Given the description of an element on the screen output the (x, y) to click on. 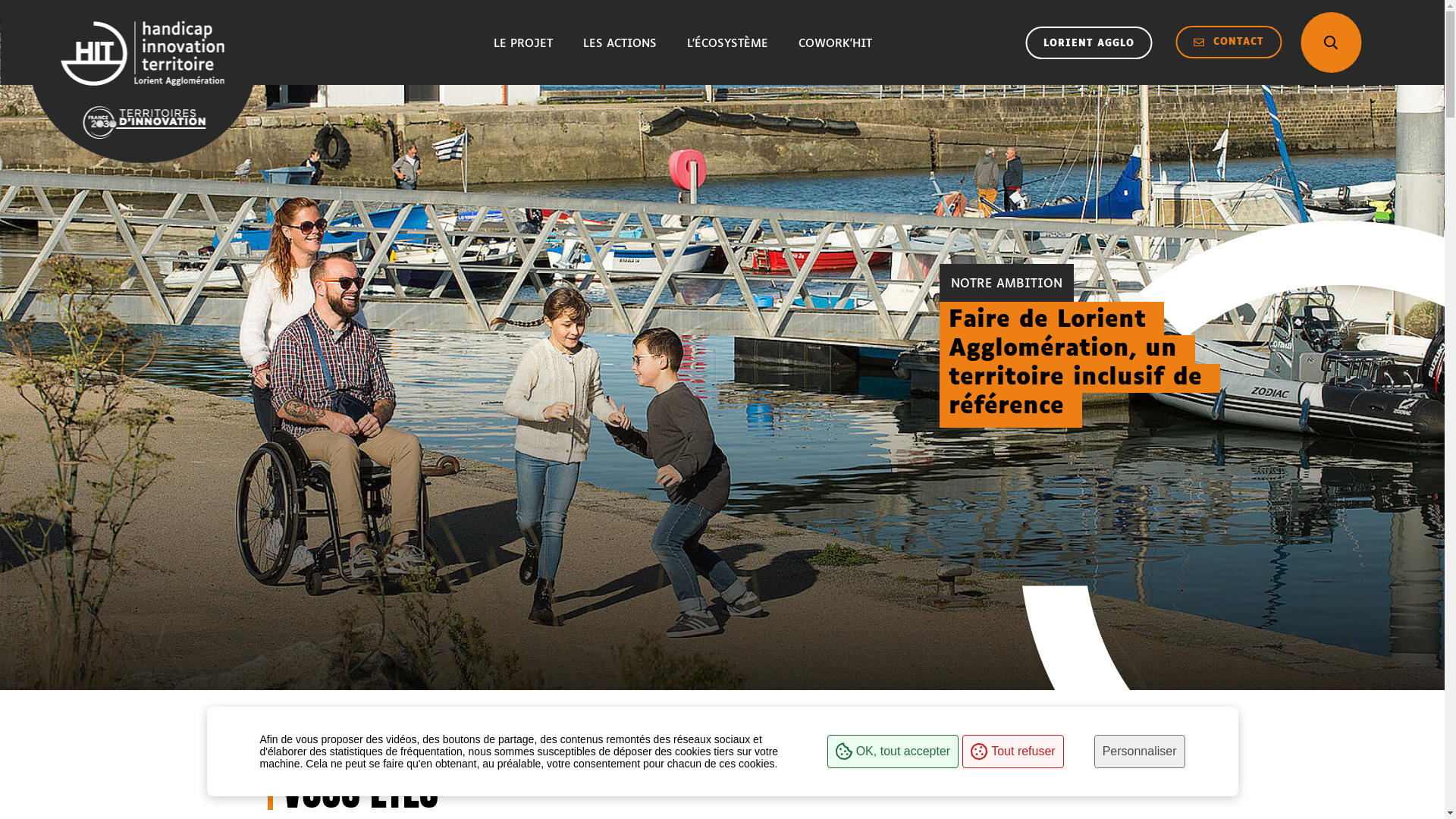
COWORK'HIT Element type: text (835, 42)
OK, tout accepter Element type: text (893, 751)
Tout refuser Element type: text (1012, 751)
CONTACT Element type: text (1228, 41)
LORIENT AGGLO Element type: text (1089, 42)
Personnaliser Element type: text (1139, 751)
LES ACTIONS Element type: text (619, 42)
LE PROJET Element type: text (522, 42)
